Given the description of an element on the screen output the (x, y) to click on. 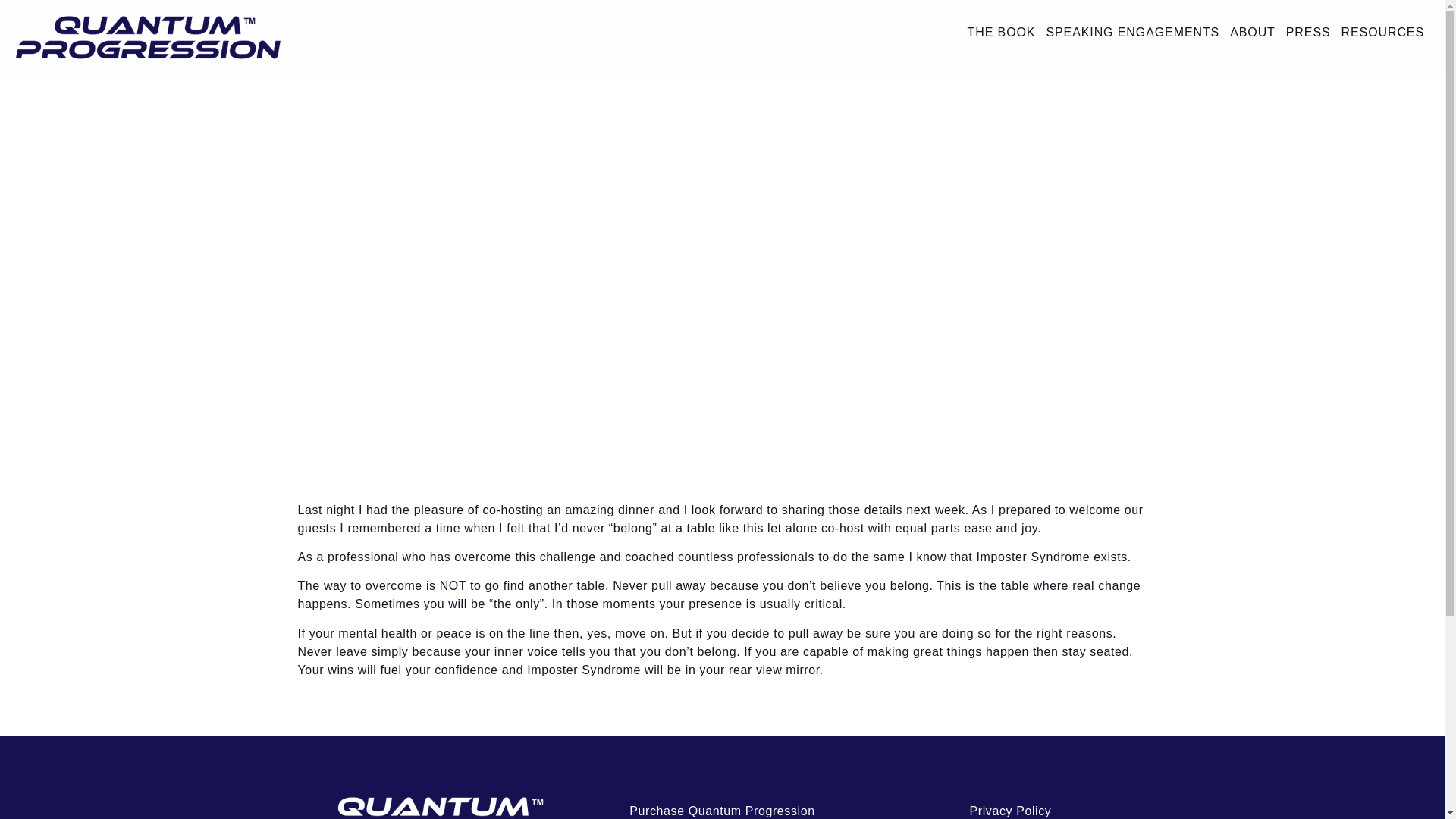
PRESS (1308, 32)
SPEAKING ENGAGEMENTS (1132, 32)
ABOUT (1252, 32)
THE BOOK (1001, 32)
Privacy Policy (1010, 807)
RESOURCES (1382, 32)
Purchase Quantum Progression (722, 807)
